Given the description of an element on the screen output the (x, y) to click on. 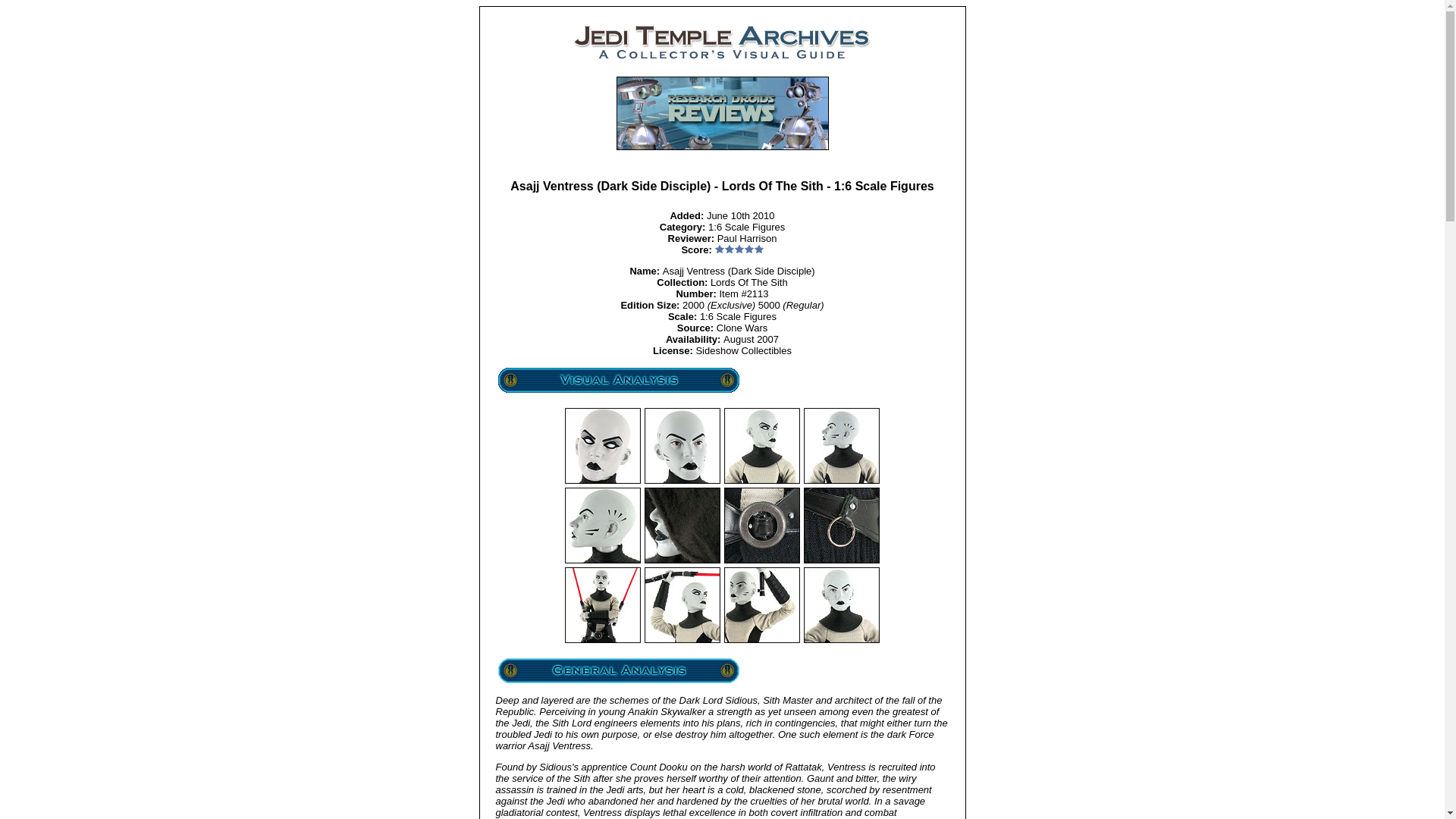
1:6 Scale Figures (745, 226)
Paul Harrison (747, 238)
